Given the description of an element on the screen output the (x, y) to click on. 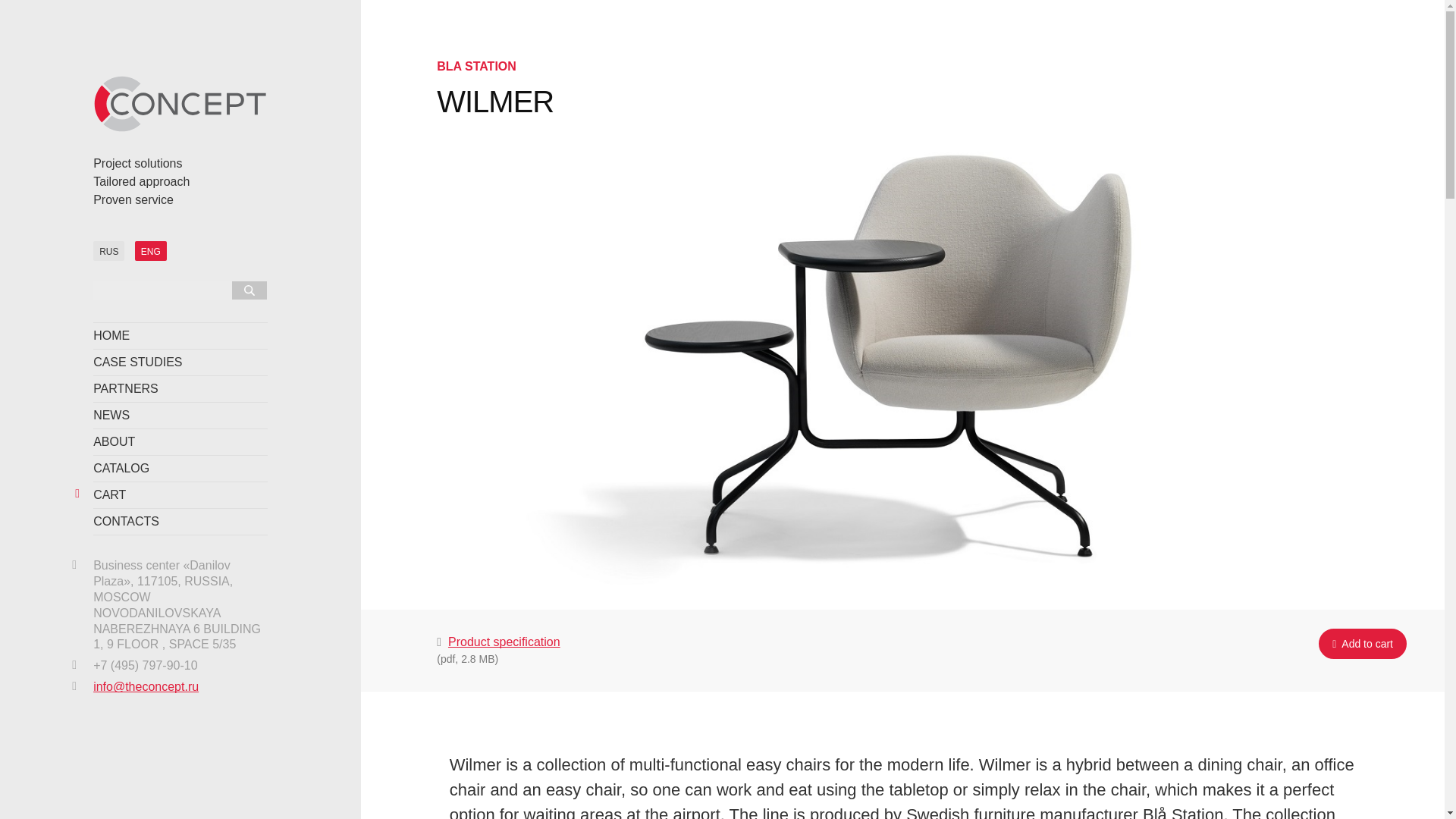
  Add to cart (1362, 643)
HOME (180, 335)
CATALOG (180, 468)
ABOUT (180, 442)
ENG (151, 250)
CART  (180, 495)
PARTNERS (180, 388)
CONTACTS (180, 521)
Product specification (504, 641)
BLA STATION (476, 65)
NEWS (180, 415)
RUS (108, 250)
CASE STUDIES (180, 362)
